Given the description of an element on the screen output the (x, y) to click on. 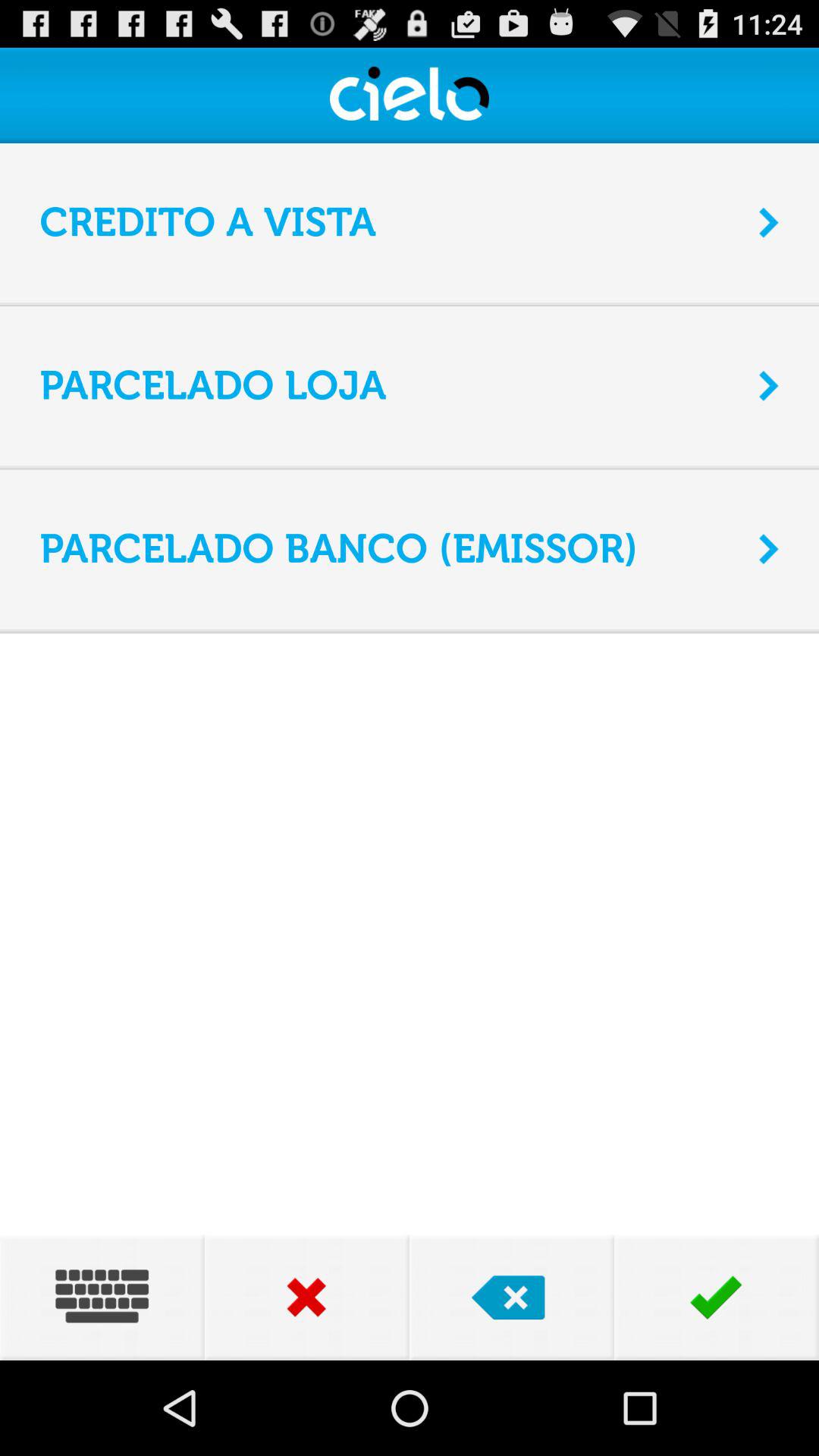
press icon next to credito a vista item (769, 222)
